Given the description of an element on the screen output the (x, y) to click on. 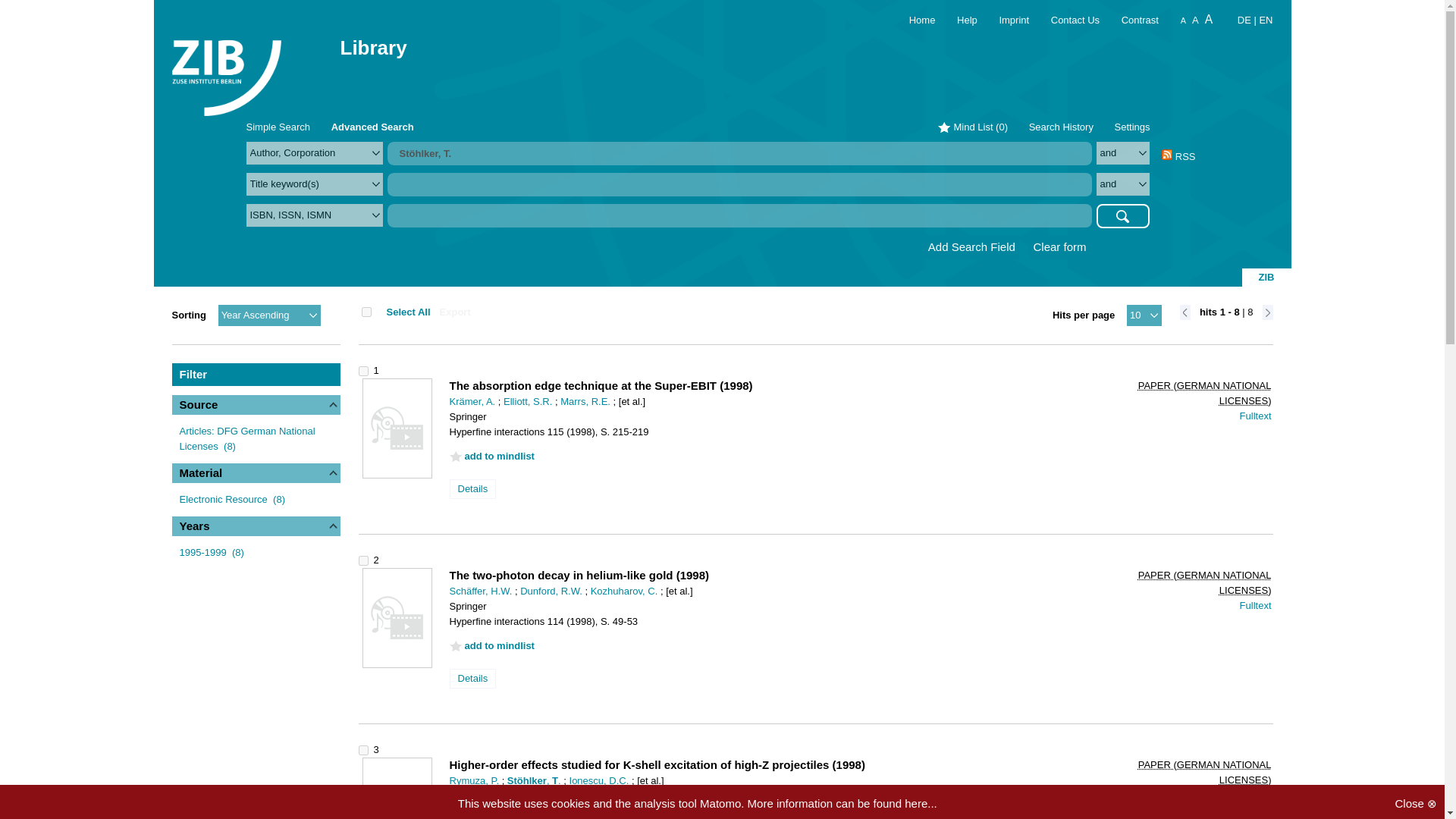
Home (912, 19)
E-Mail an ZIB (1067, 19)
Search History (1061, 126)
Clear form (1059, 247)
Search (1123, 215)
on (366, 311)
Settings (1132, 126)
Articles: DFG German National Licenses (246, 438)
Imprint (1004, 19)
Simple Search (278, 126)
Add Search Field (971, 247)
Home (912, 19)
Help (956, 19)
ZIB Library (226, 68)
Imprint (1004, 19)
